Given the description of an element on the screen output the (x, y) to click on. 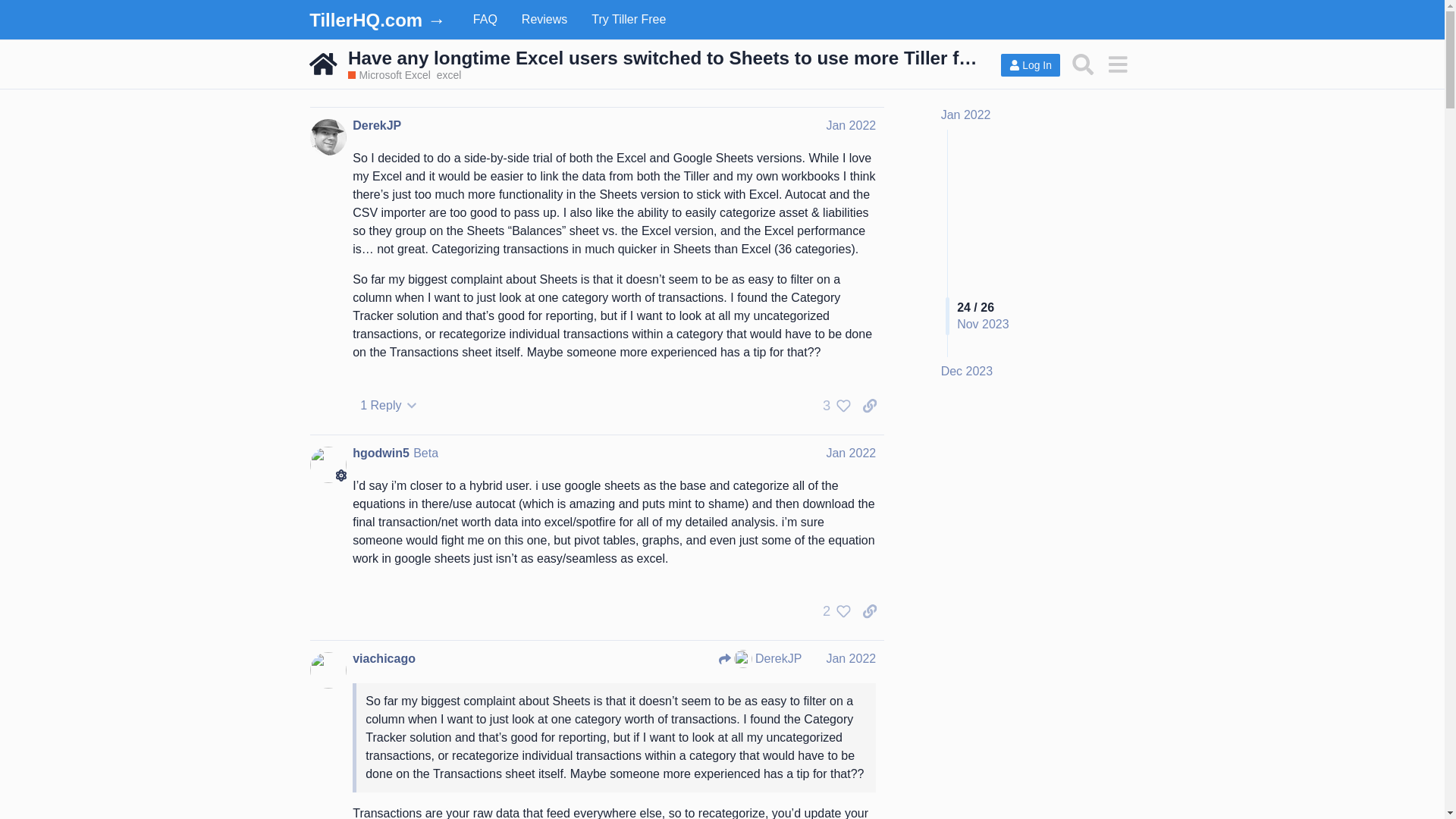
Jump to the first post (965, 114)
viachicago (383, 658)
1 Reply (387, 405)
Jan 2022 (850, 452)
Beta (425, 452)
Try Tiller Free (628, 19)
Reviews (544, 19)
Jump to the last post (966, 370)
Jan 2022 (965, 114)
